Given the description of an element on the screen output the (x, y) to click on. 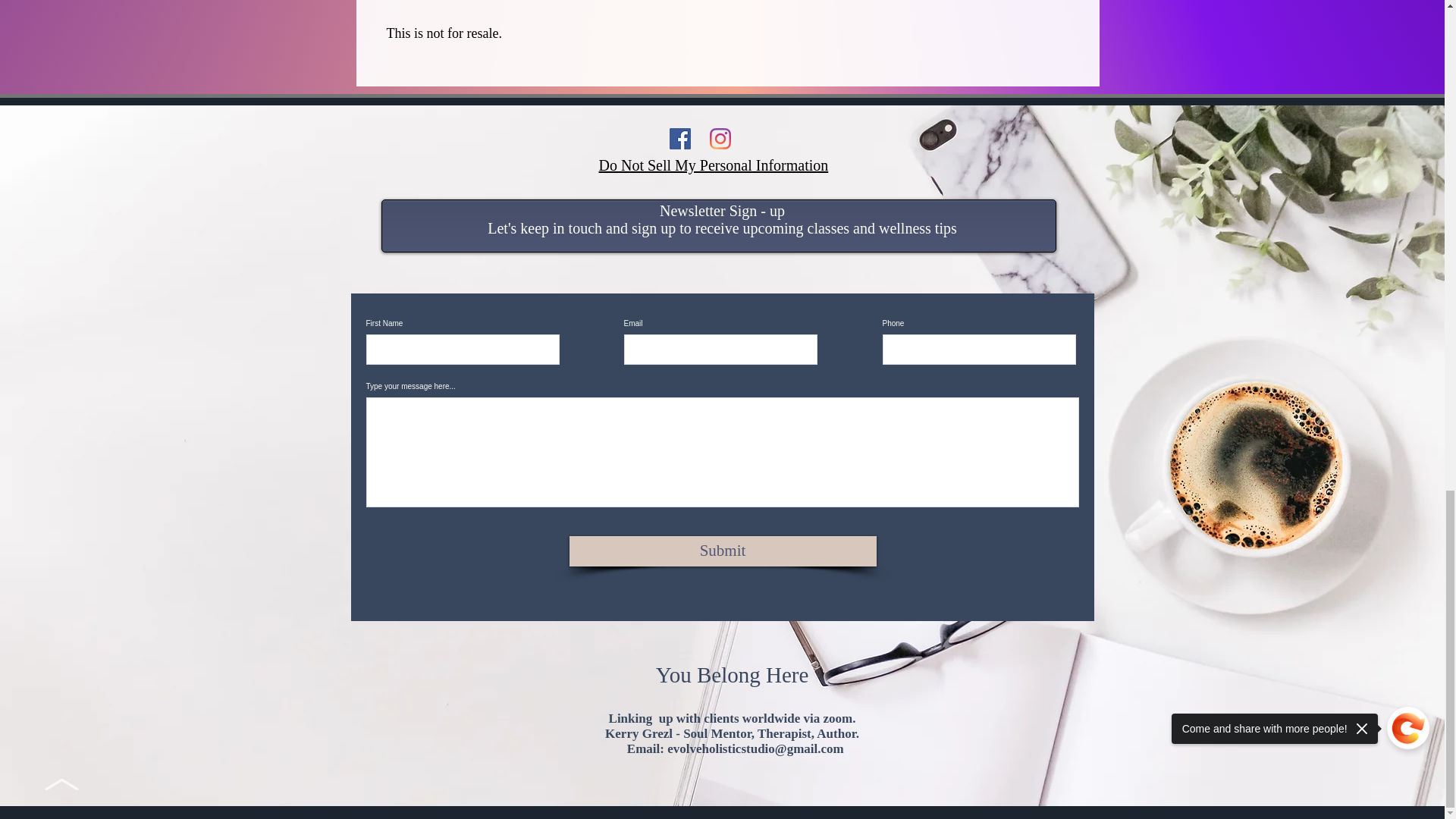
Do Not Sell My Personal Information (713, 165)
Submit (722, 551)
